Given the description of an element on the screen output the (x, y) to click on. 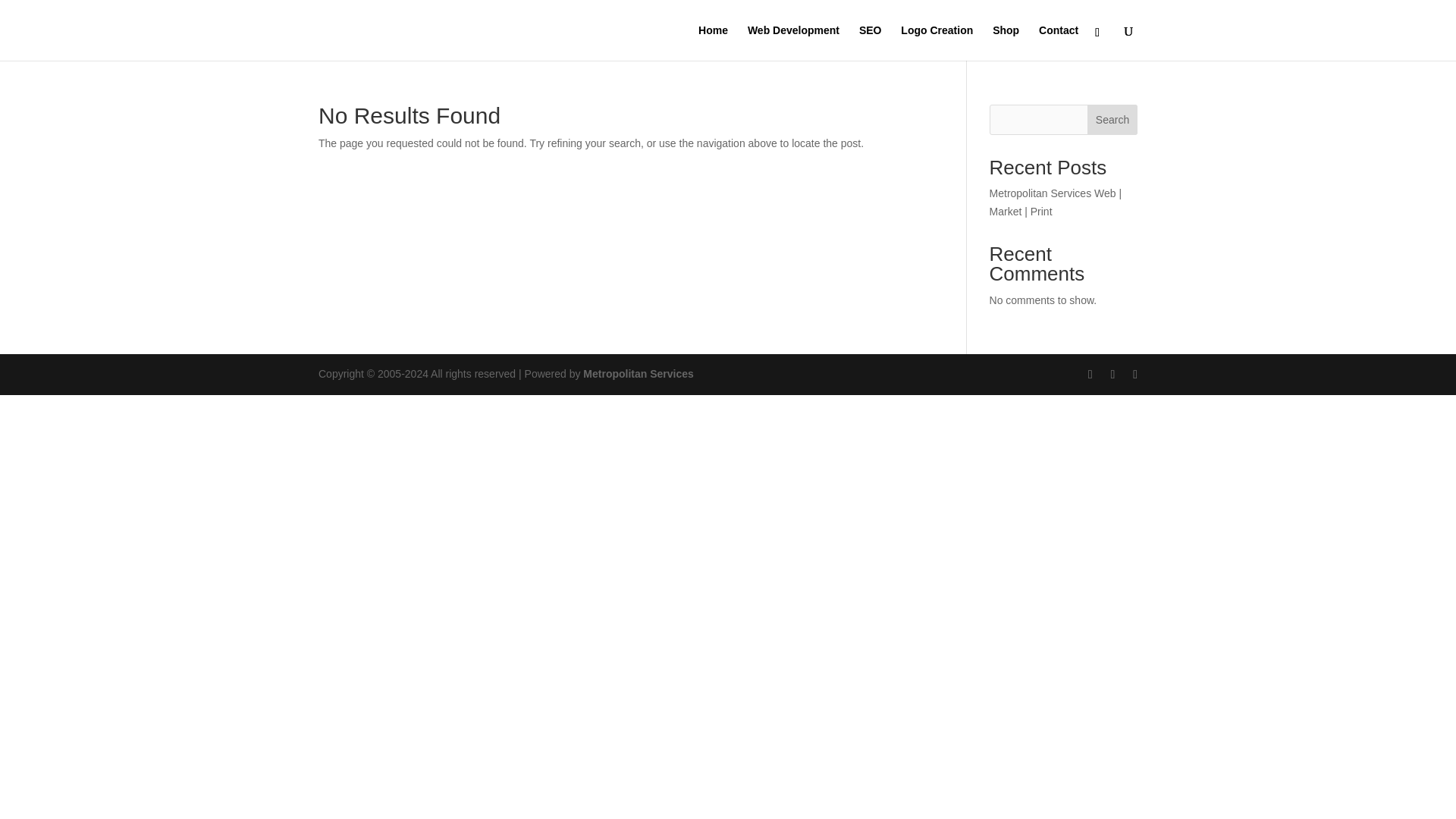
Metropolitan SEO Website Design (638, 373)
Search (1112, 119)
Logo Creation (936, 42)
Web Development (794, 42)
Metropolitan Services (638, 373)
Contact (1058, 42)
